Given the description of an element on the screen output the (x, y) to click on. 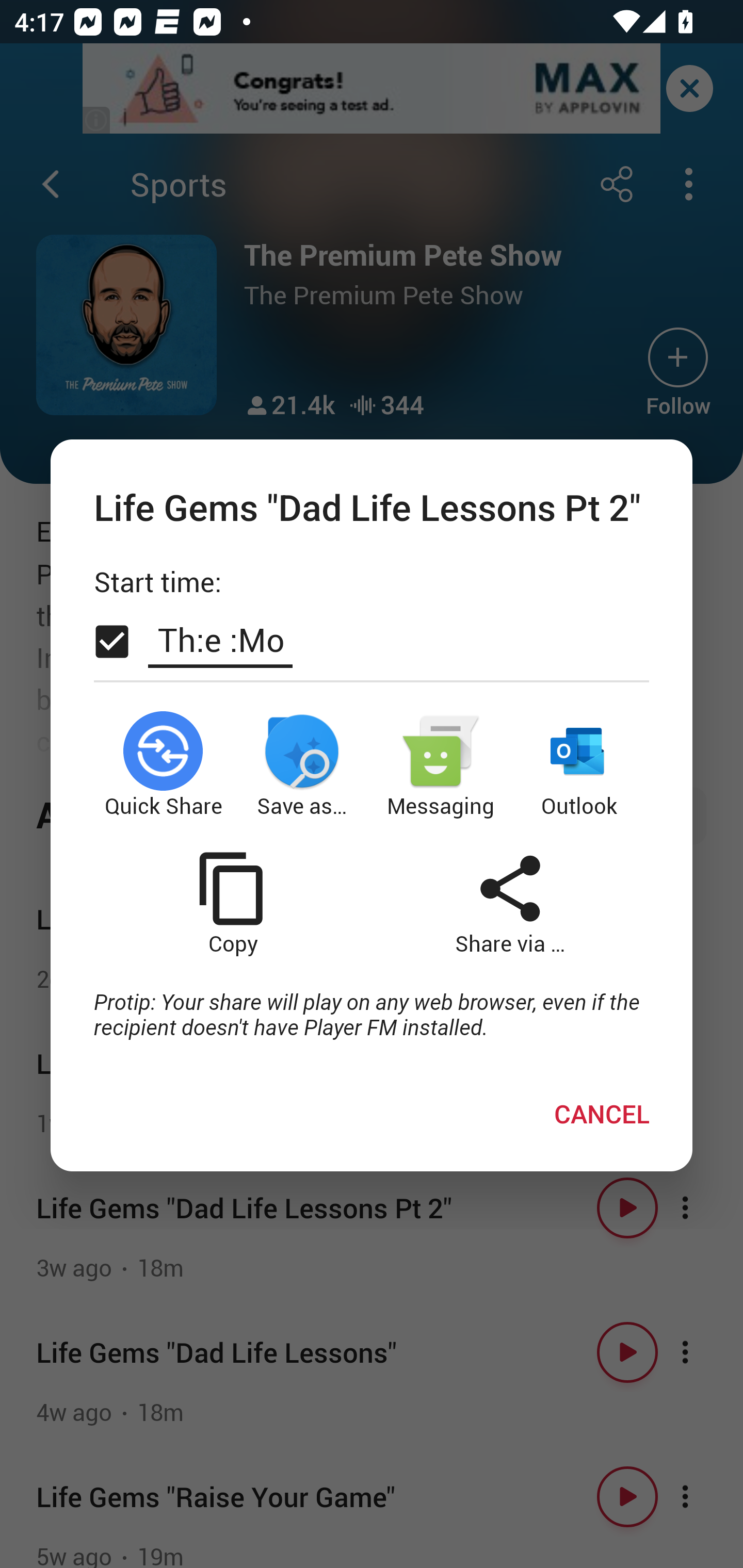
The Mo (220, 639)
Quick Share (163, 765)
Save as… (301, 765)
Messaging (440, 765)
Outlook (579, 765)
Copy (232, 903)
Share via … (509, 903)
CANCEL (600, 1113)
